Given the description of an element on the screen output the (x, y) to click on. 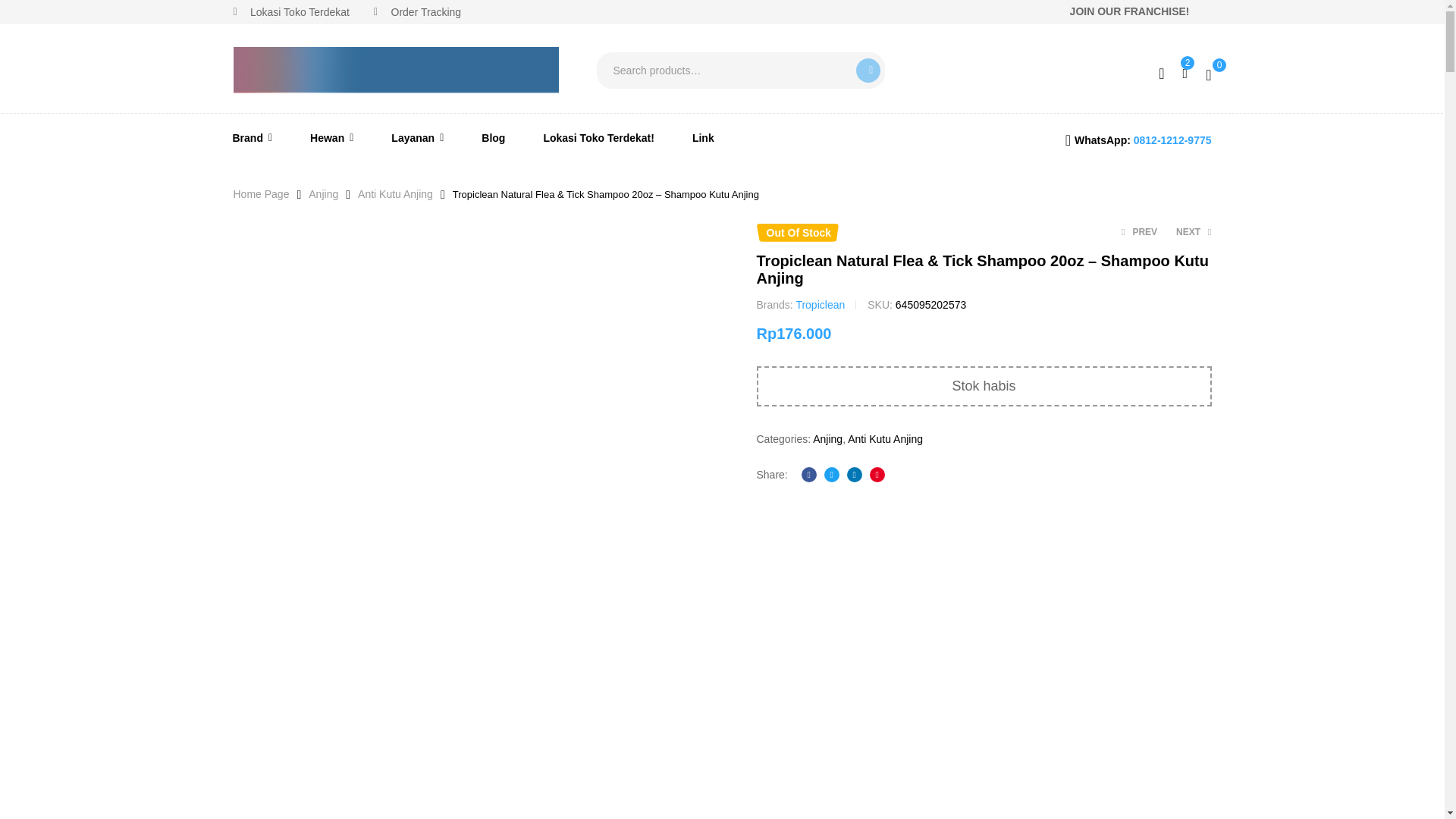
Search (868, 70)
Order Tracking (417, 12)
JOIN OUR FRANCHISE! (1129, 12)
Lokasi Toko Terdekat (291, 12)
Share on Pinterest (877, 474)
Share on Twitter (832, 474)
Share on facebook (809, 474)
Share on LinkedIn (854, 474)
